Given the description of an element on the screen output the (x, y) to click on. 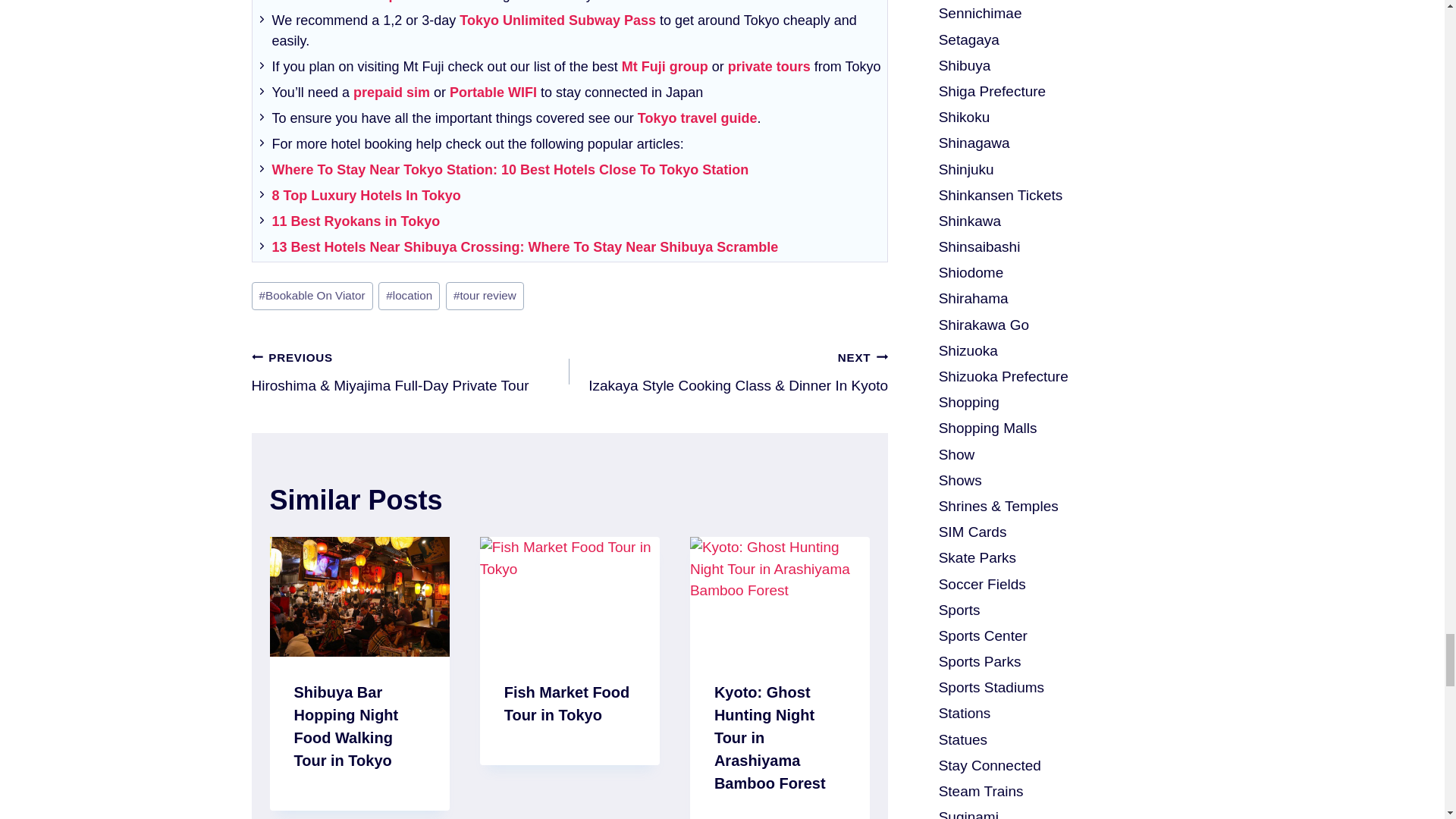
location (408, 295)
tour review (484, 295)
Bookable On Viator (311, 295)
